Given the description of an element on the screen output the (x, y) to click on. 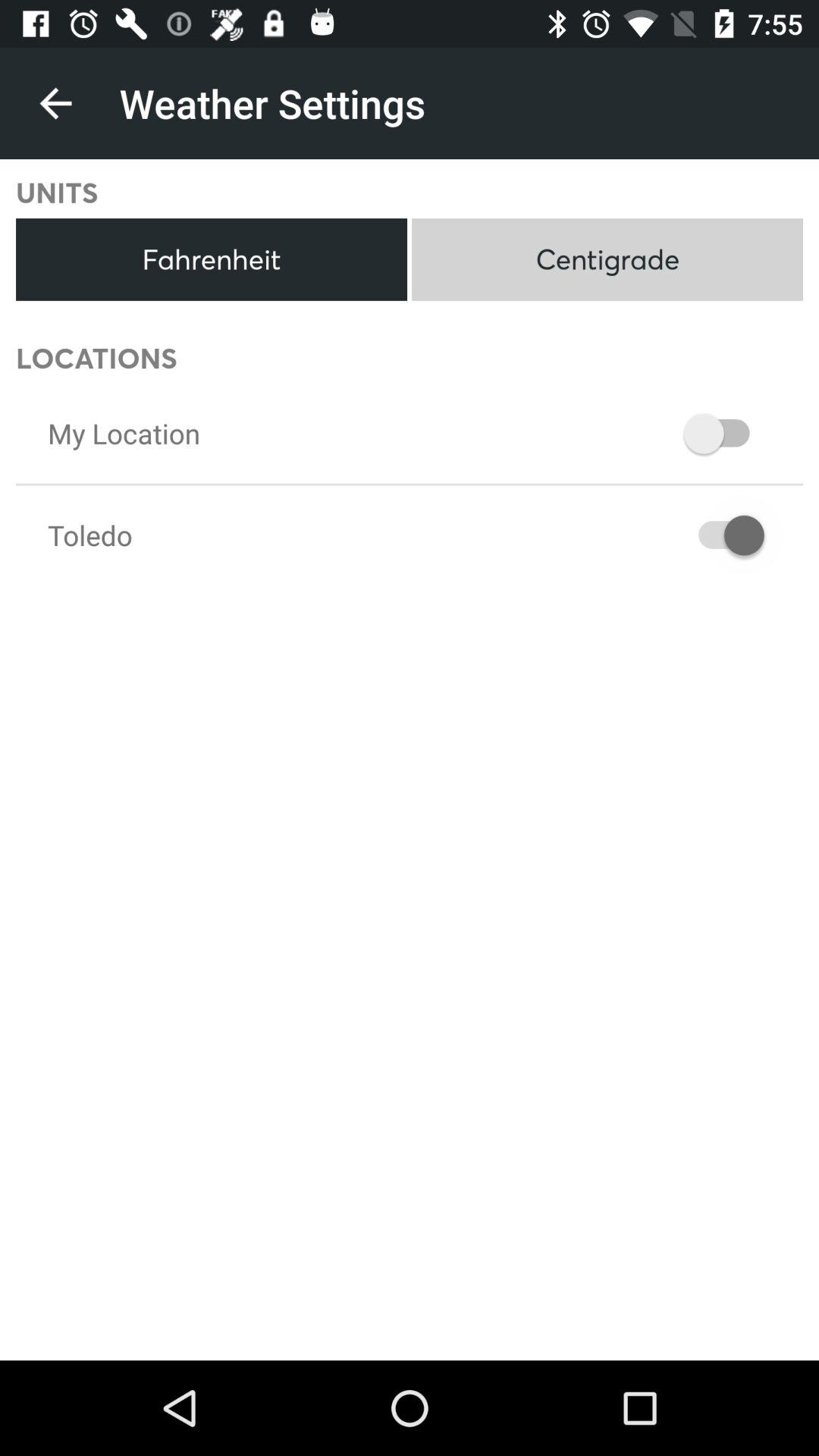
click icon above toledo icon (123, 433)
